Given the description of an element on the screen output the (x, y) to click on. 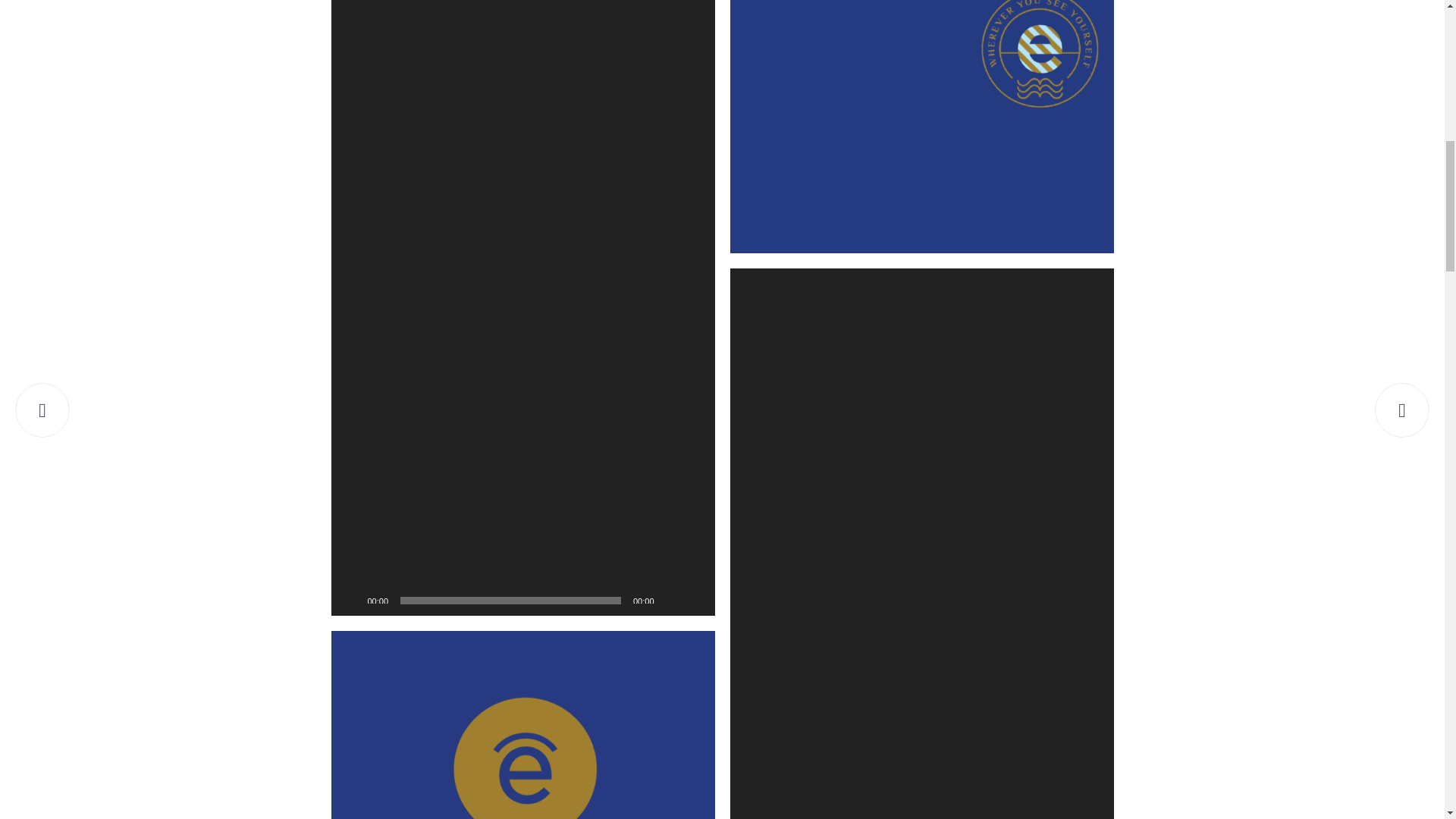
Fullscreen (694, 600)
Mute (670, 600)
envision logo (921, 126)
Envision-img-7 (522, 724)
Play (350, 600)
